Given the description of an element on the screen output the (x, y) to click on. 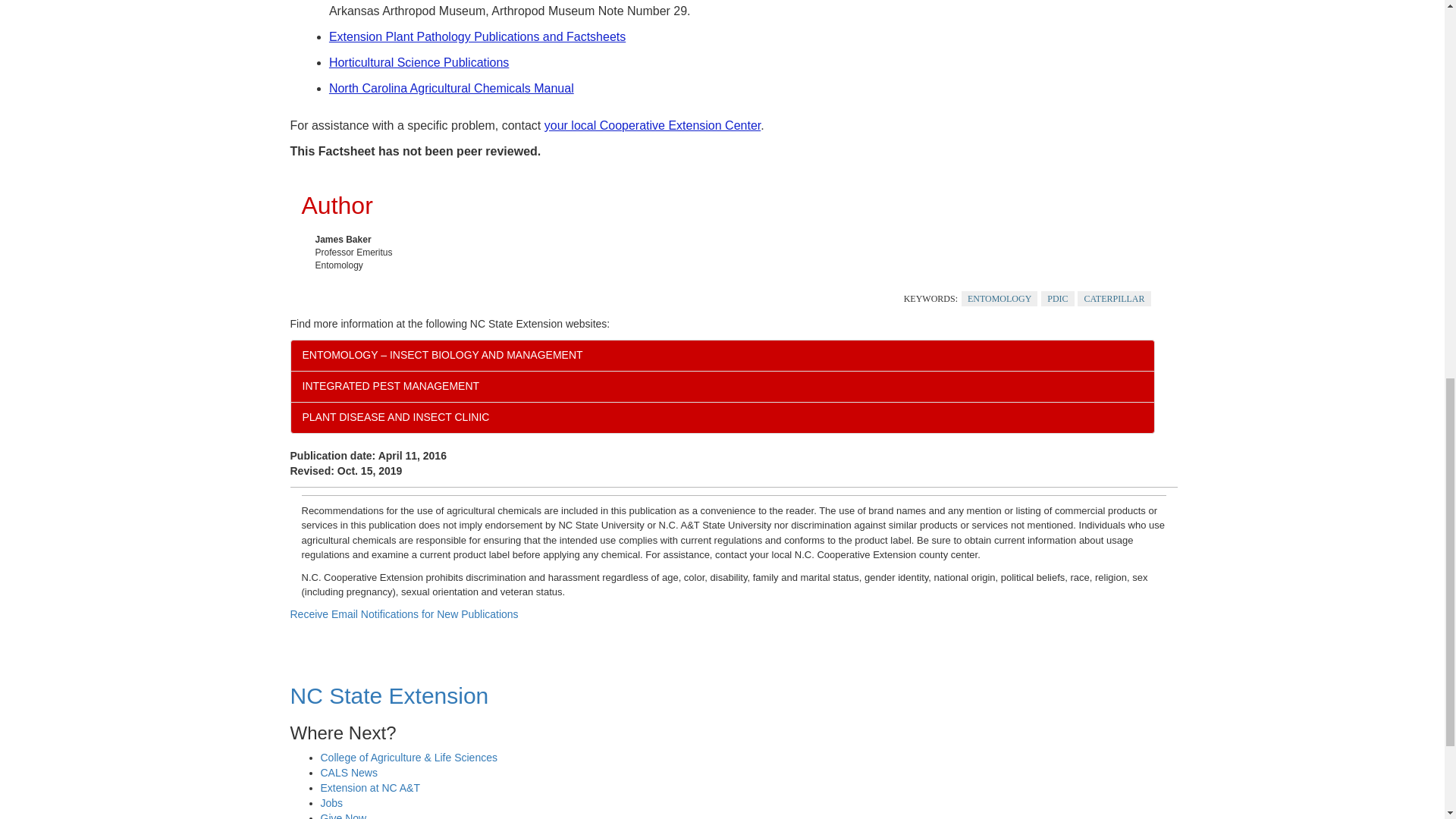
Extension Plant Pathology Publications and Factsheets (477, 36)
INTEGRATED PEST MANAGEMENT (721, 386)
ENTOMOLOGY (998, 298)
North Carolina Agricultural Chemicals Manual (451, 88)
Horticultural Science Publications (418, 62)
PDIC (1057, 298)
CATERPILLAR (1113, 298)
PLANT DISEASE AND INSECT CLINIC (721, 418)
your local Cooperative Extension Center (652, 124)
